Given the description of an element on the screen output the (x, y) to click on. 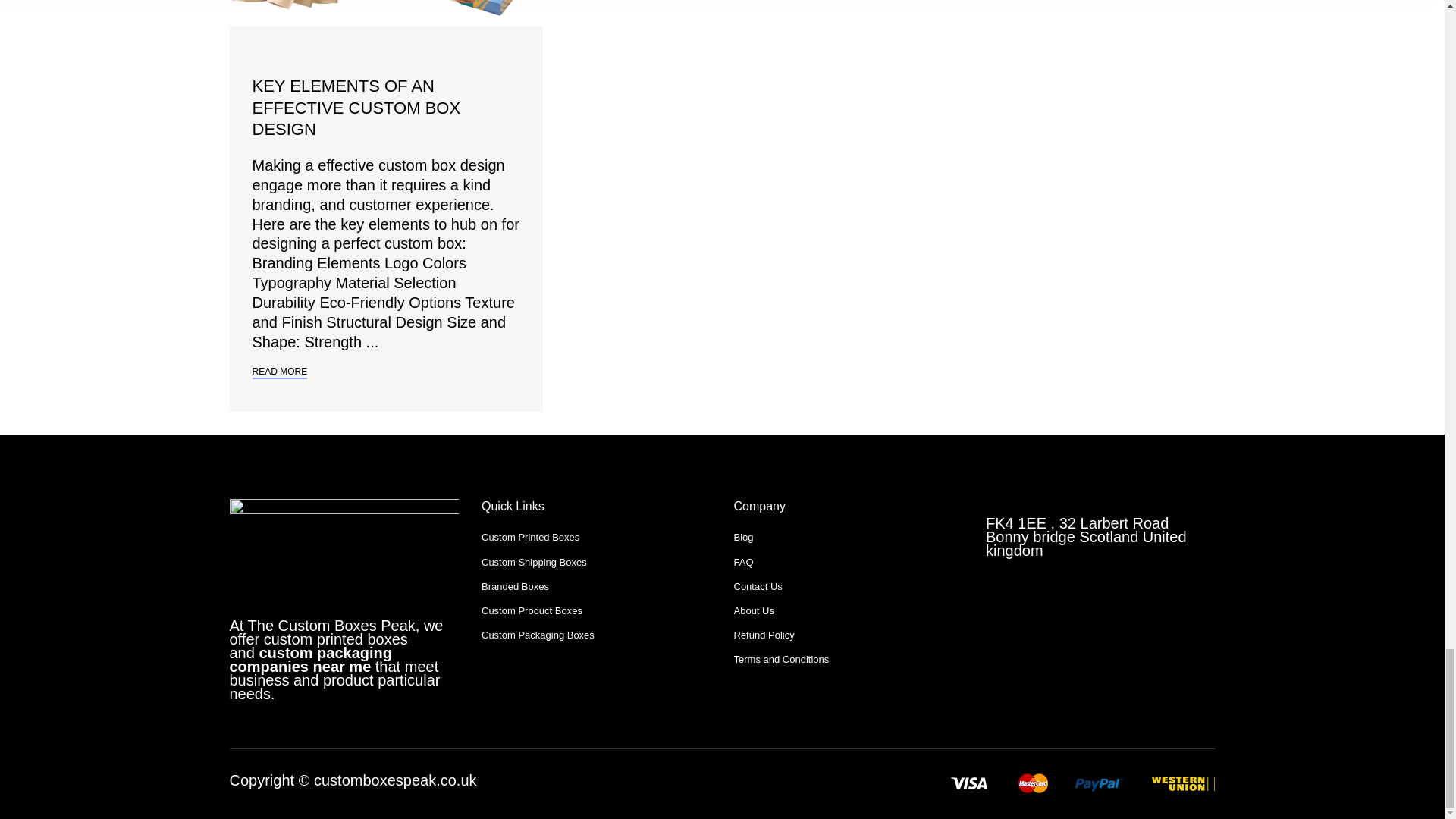
Key Elements of an Effective Custom Box Design (355, 107)
Key Elements of an Effective Custom Box Design (384, 12)
